Given the description of an element on the screen output the (x, y) to click on. 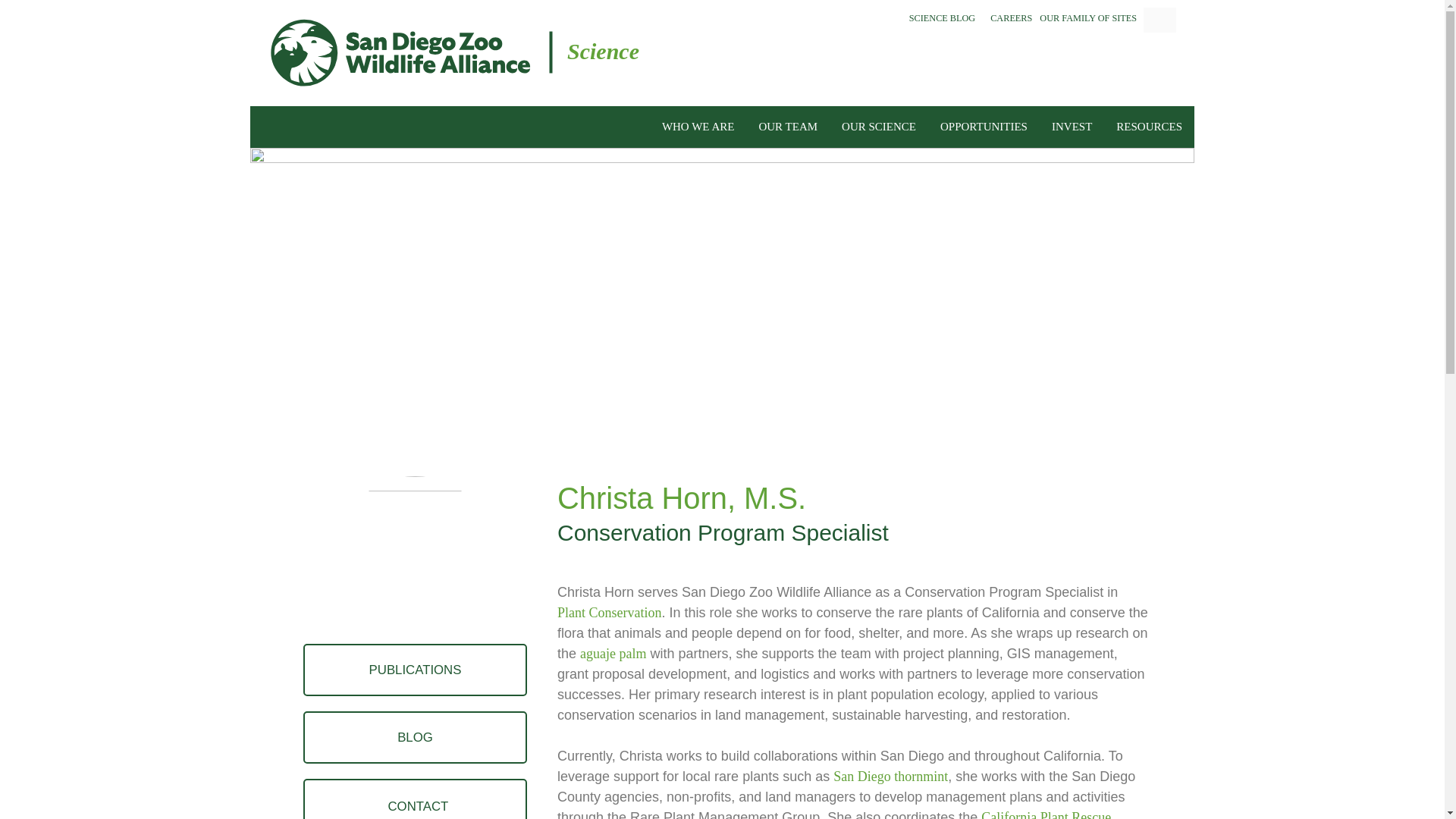
OPPORTUNITIES (983, 126)
CAREERS (1010, 18)
OUR SCIENCE (878, 126)
Enter the terms you wish to search for. (1159, 19)
RESOURCES (1149, 126)
INVEST (1071, 126)
SCIENCE BLOG (941, 18)
